Given the description of an element on the screen output the (x, y) to click on. 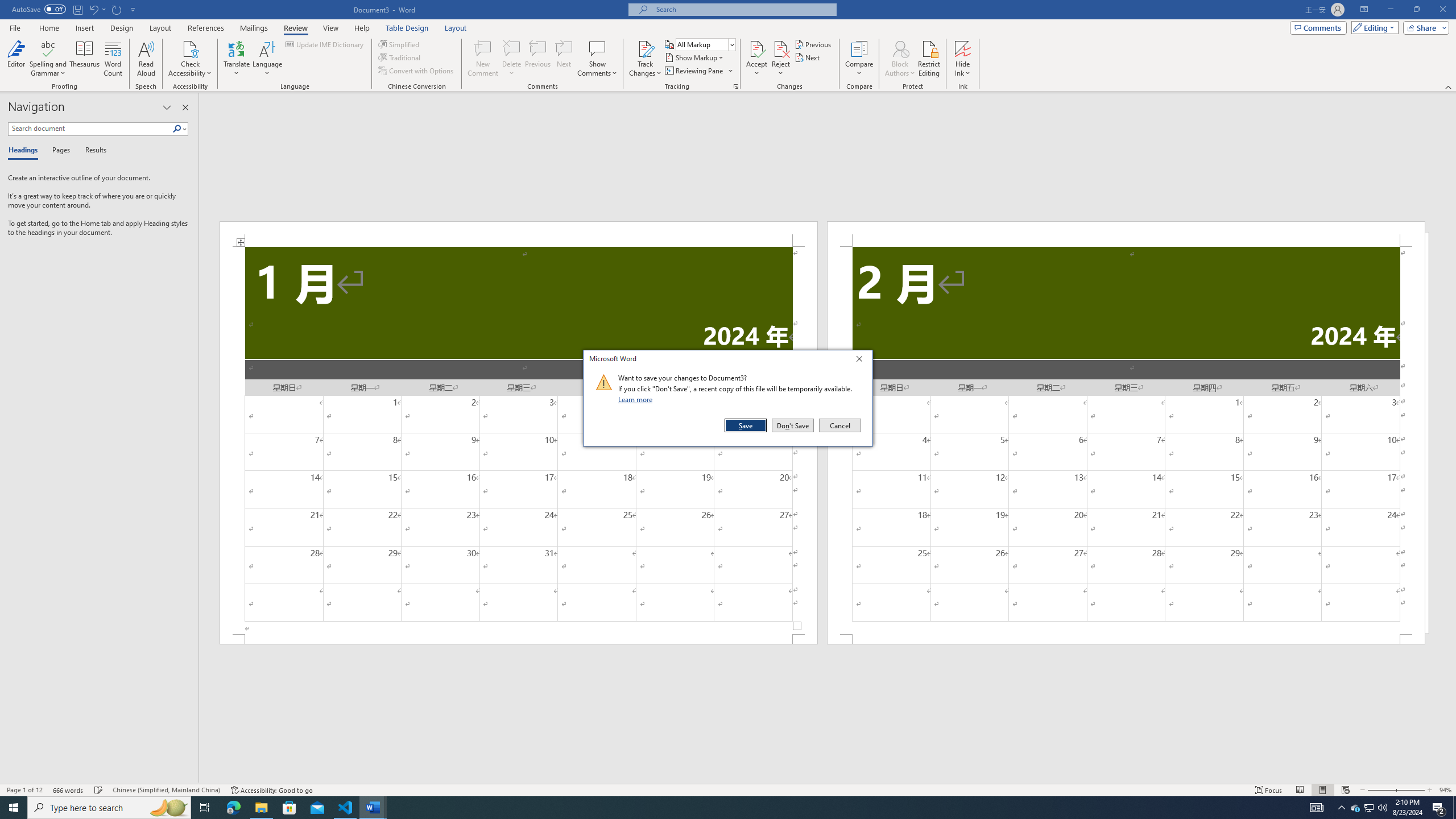
Customize Quick Access Toolbar (133, 9)
Accept and Move to Next (756, 48)
Undo Increase Indent (96, 9)
Class: MsoCommandBar (728, 789)
Restrict Editing (929, 58)
Traditional (400, 56)
Layout (455, 28)
Change Tracking Options... (735, 85)
Undo Increase Indent (92, 9)
Update IME Dictionary... (324, 44)
Class: NetUIImage (603, 382)
Search document (89, 128)
